Given the description of an element on the screen output the (x, y) to click on. 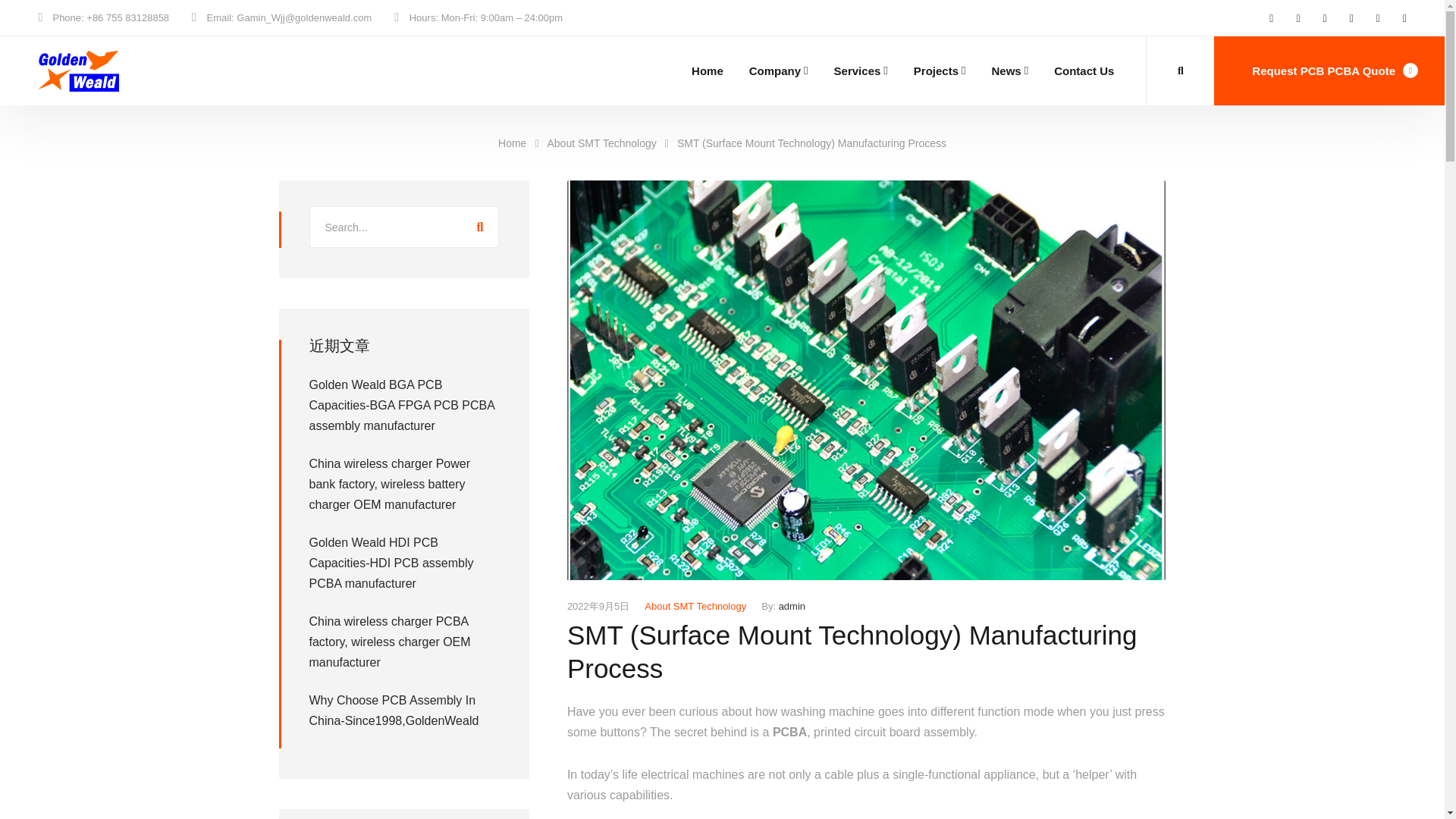
Home (522, 143)
admin (791, 605)
About SMT Technology (695, 605)
Shenzhen Golden Weald Electronic Co., Ltd (78, 71)
About SMT Technology (612, 143)
